Given the description of an element on the screen output the (x, y) to click on. 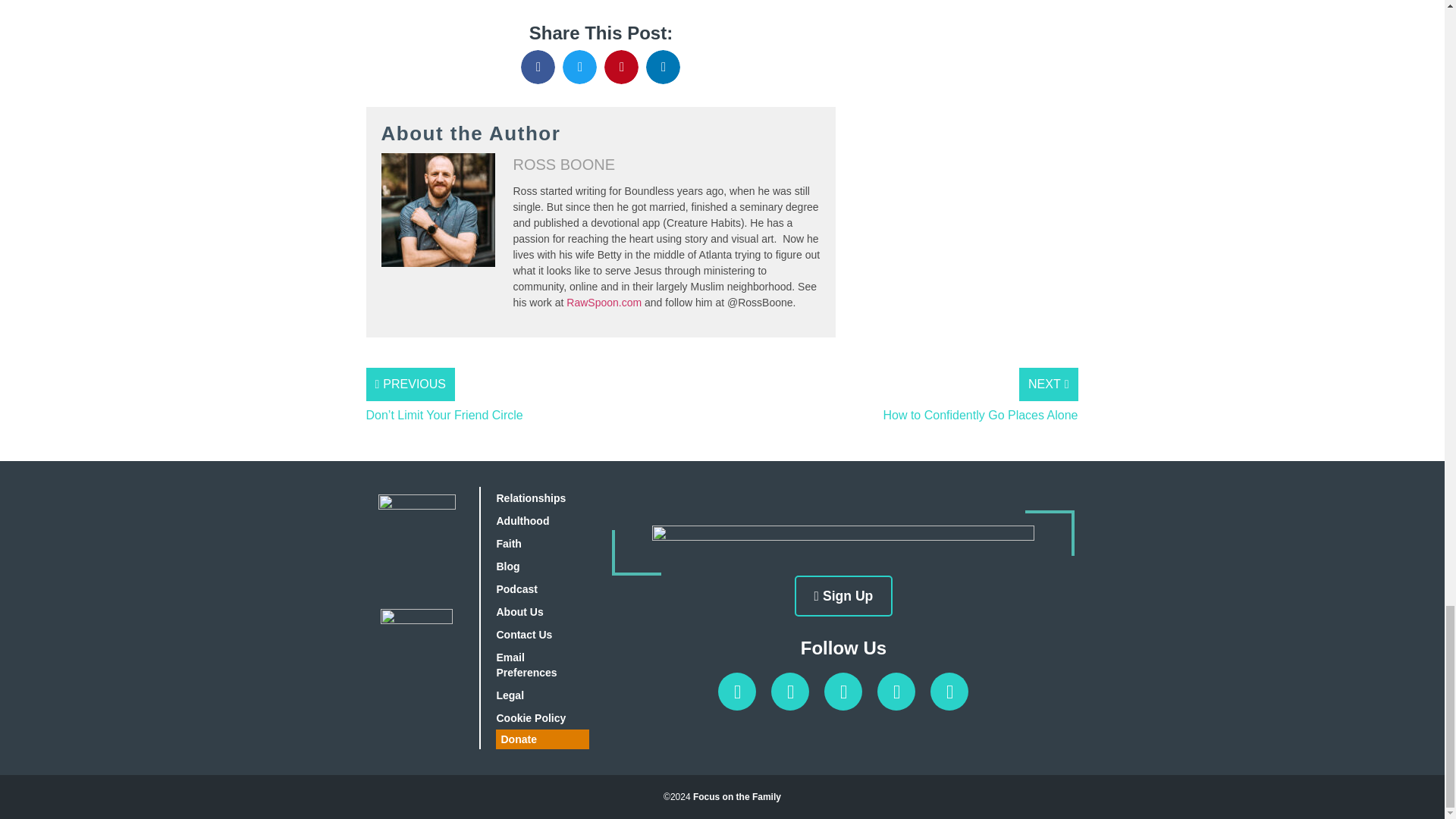
Focus on the Family (736, 796)
